Given the description of an element on the screen output the (x, y) to click on. 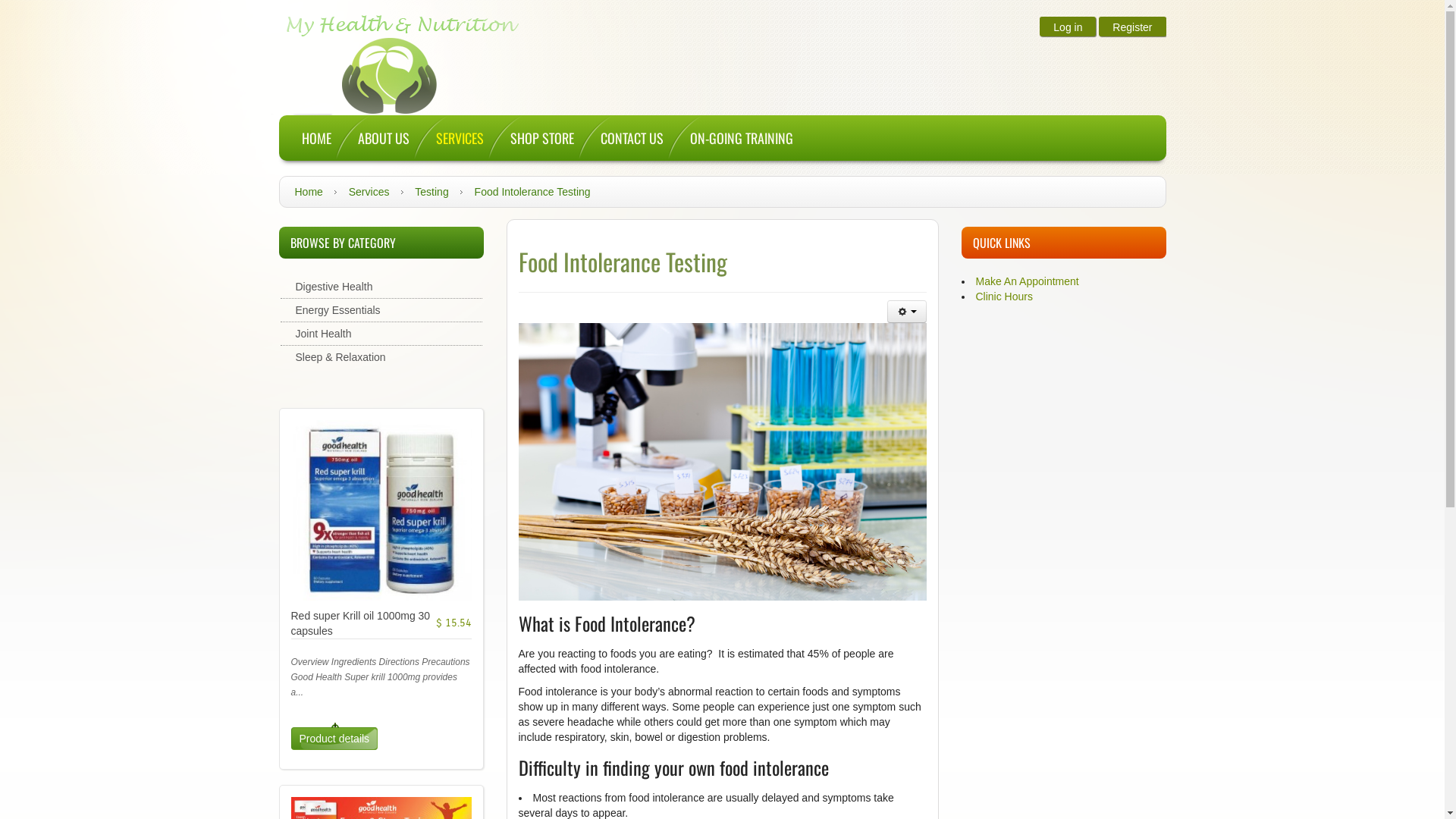
Joint Health Element type: text (381, 333)
Energy Essentials Element type: text (381, 309)
Product details Element type: text (334, 738)
SERVICES Element type: text (449, 137)
Red super Krill oil 1000mg 30 capsules Element type: text (360, 623)
CONTACT US Element type: text (622, 137)
Sleep & Relaxation Element type: text (381, 356)
Services Element type: text (368, 191)
Clinic Hours Element type: text (1003, 296)
Red super Krill oil 1000mg 30 capsules Element type: hover (381, 509)
Home Element type: text (308, 191)
ABOUT US Element type: text (374, 137)
HOME Element type: text (307, 137)
ON-GOING TRAINING Element type: text (732, 137)
Testing Element type: text (431, 191)
Food Intolerance Testing Element type: text (622, 261)
Digestive Health Element type: text (381, 286)
Make An Appointment Element type: text (1026, 281)
SHOP STORE Element type: text (531, 137)
